Given the description of an element on the screen output the (x, y) to click on. 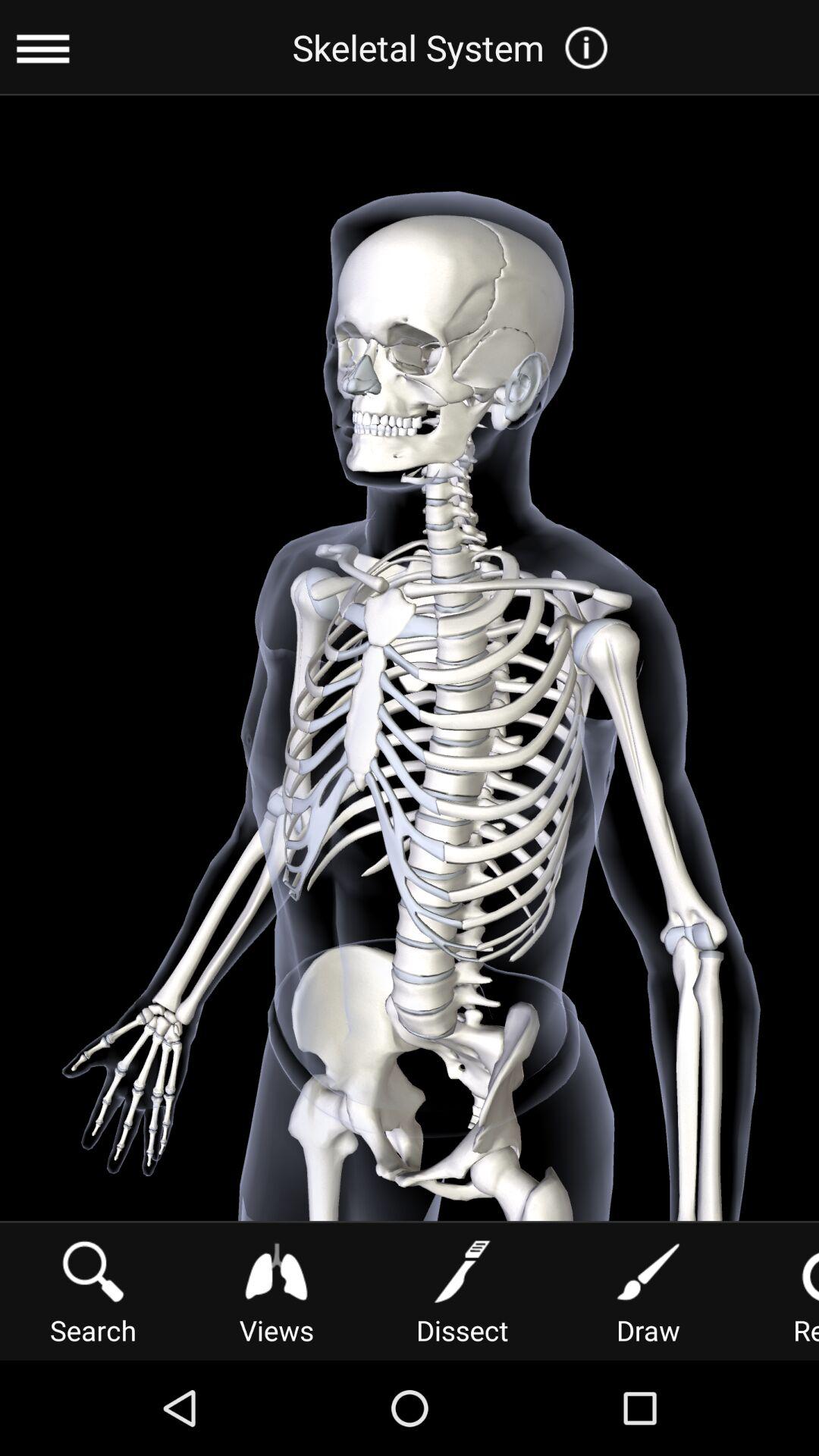
choose the icon below skeletal system item (276, 1290)
